Given the description of an element on the screen output the (x, y) to click on. 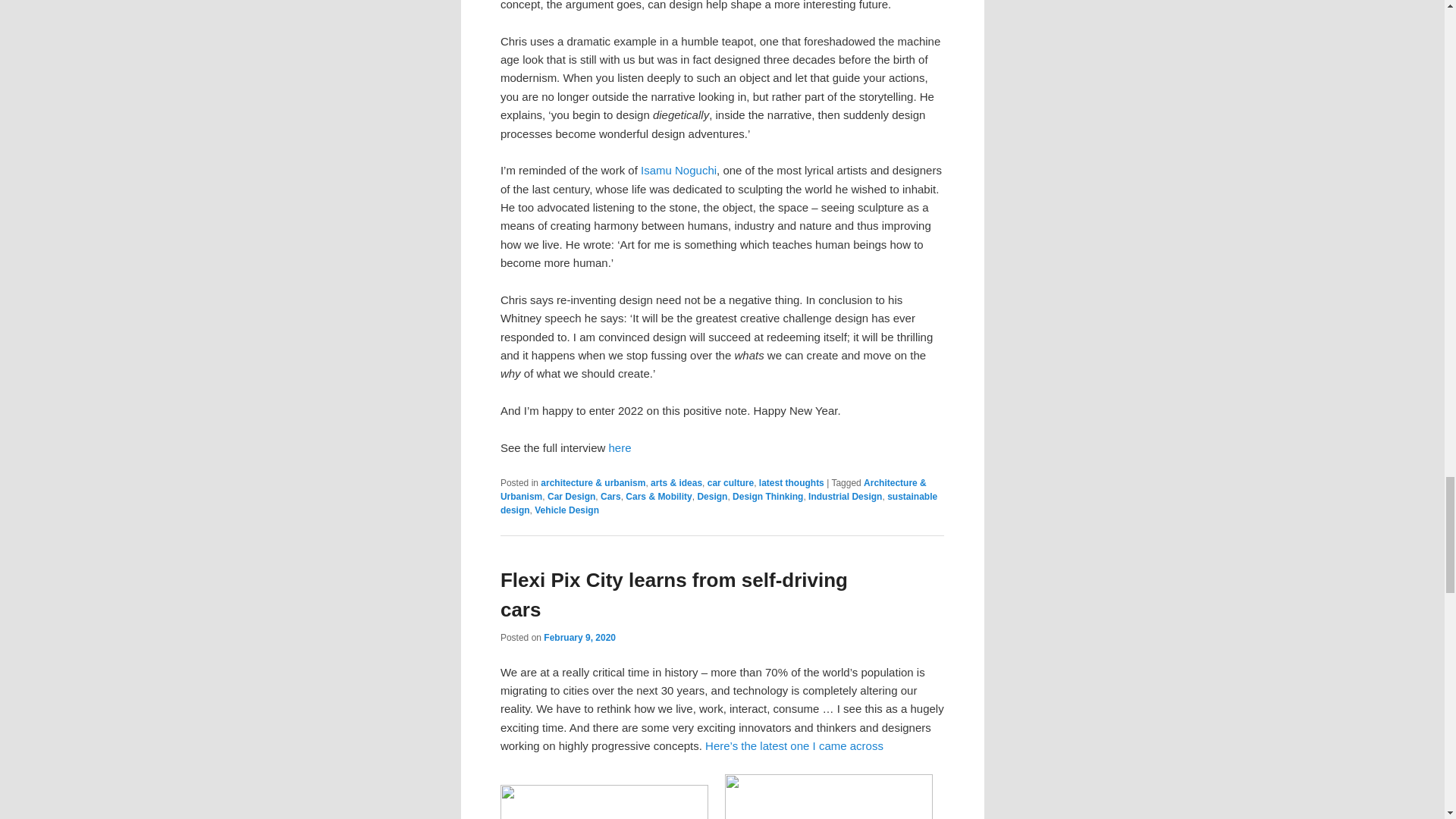
here (619, 447)
car culture (730, 482)
latest thoughts (791, 482)
Isamu Noguchi (678, 169)
